Given the description of an element on the screen output the (x, y) to click on. 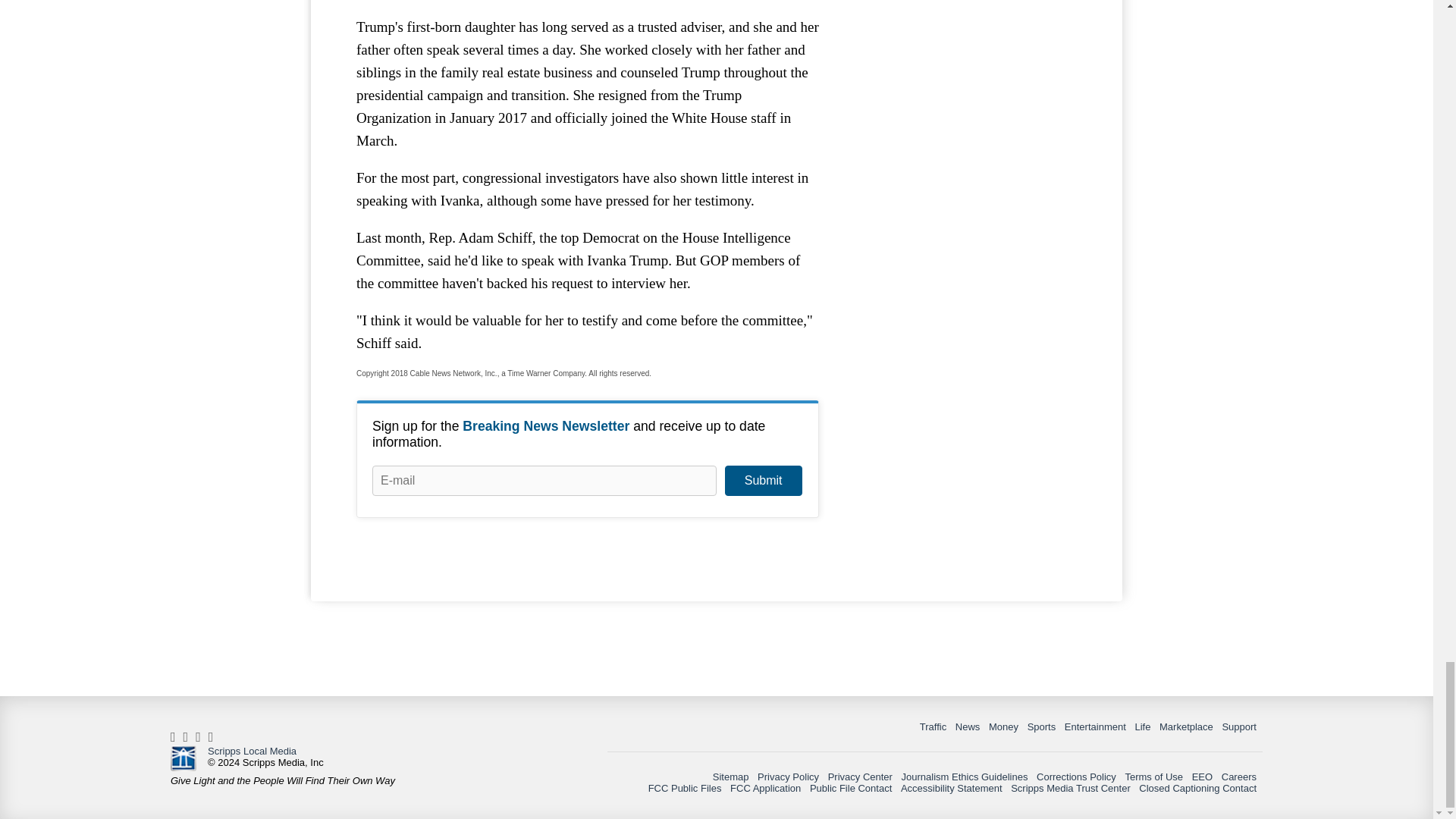
Submit (763, 481)
